Given the description of an element on the screen output the (x, y) to click on. 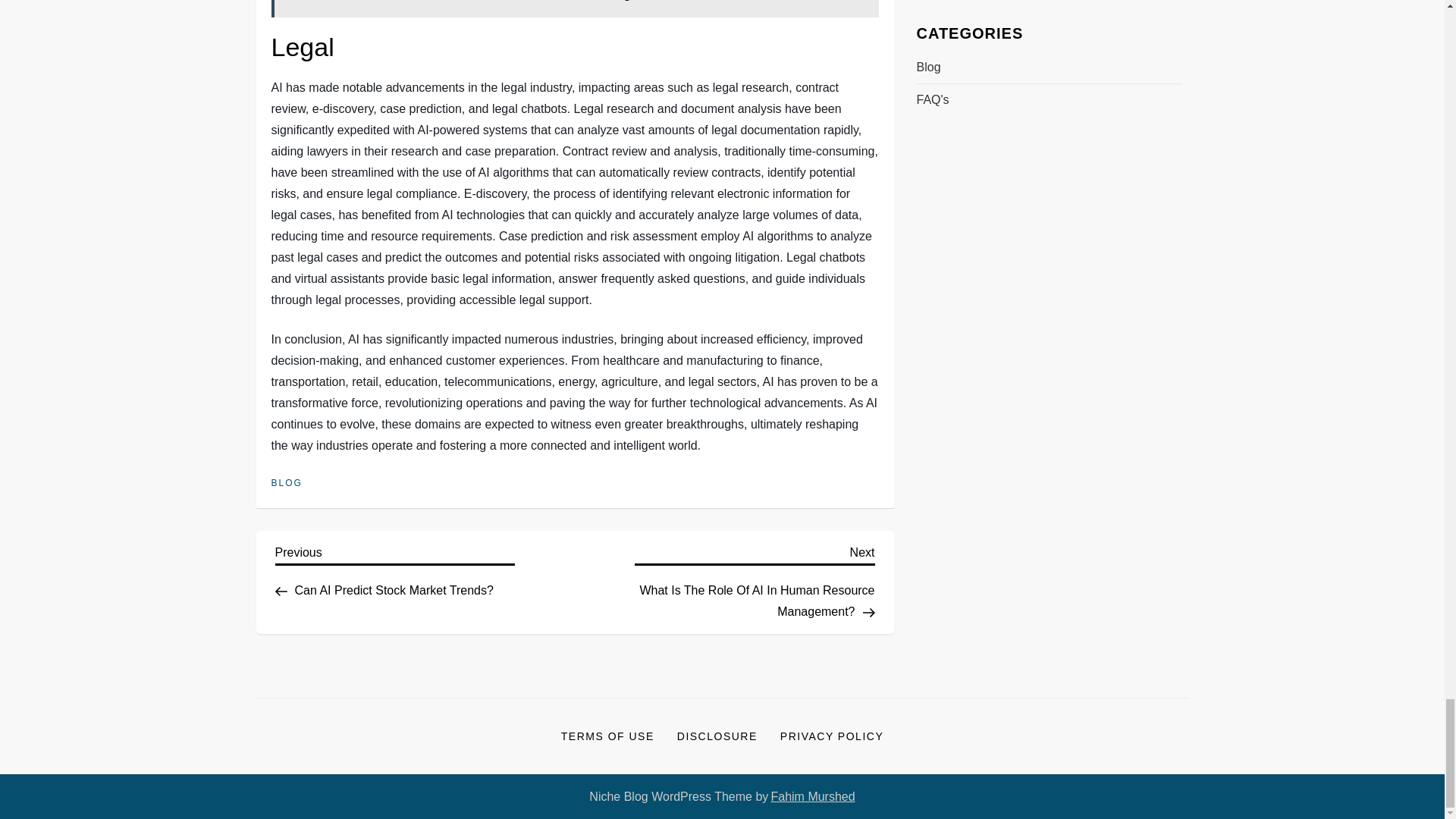
PRIVACY POLICY (831, 736)
TERMS OF USE (394, 569)
DISCLOSURE (607, 736)
Fahim Murshed (716, 736)
BLOG (812, 796)
